Given the description of an element on the screen output the (x, y) to click on. 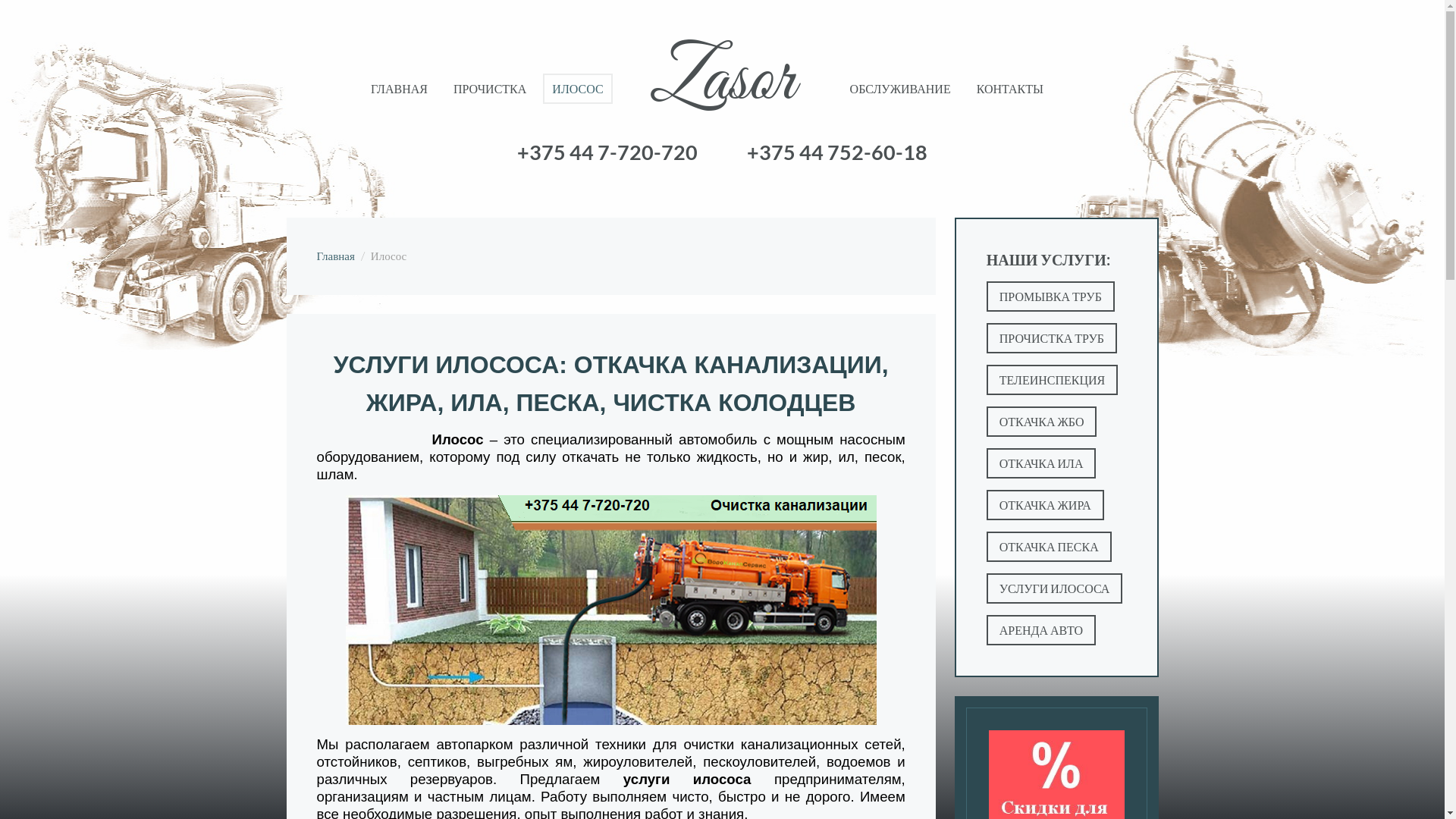
Zasor Element type: text (721, 90)
